Given the description of an element on the screen output the (x, y) to click on. 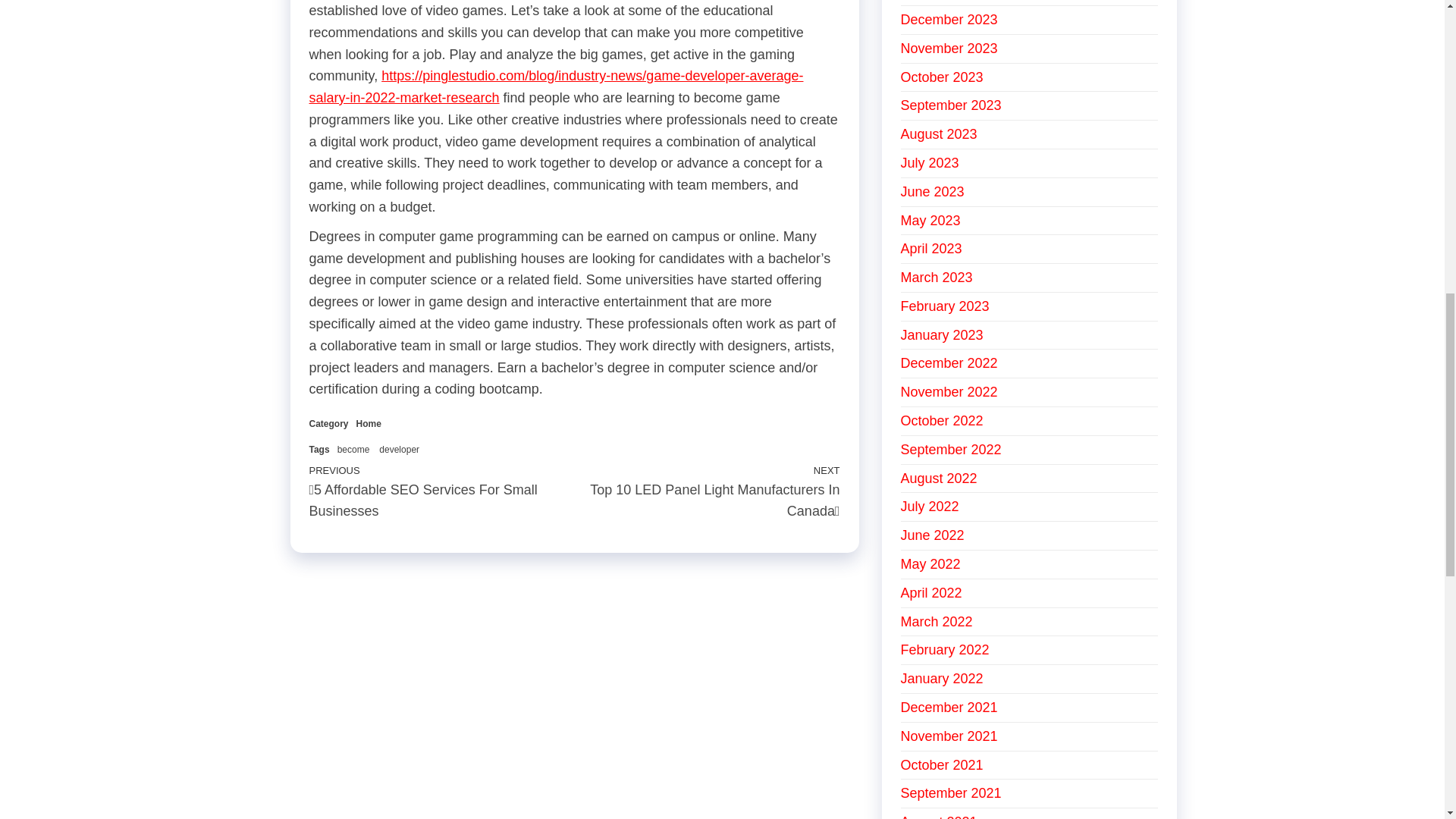
October 2022 (942, 420)
May 2023 (930, 219)
August 2023 (938, 133)
December 2023 (949, 19)
April 2023 (931, 248)
September 2022 (951, 449)
December 2022 (949, 363)
become (353, 449)
September 2023 (951, 105)
June 2023 (932, 191)
November 2022 (949, 391)
February 2023 (945, 305)
October 2023 (942, 77)
